Given the description of an element on the screen output the (x, y) to click on. 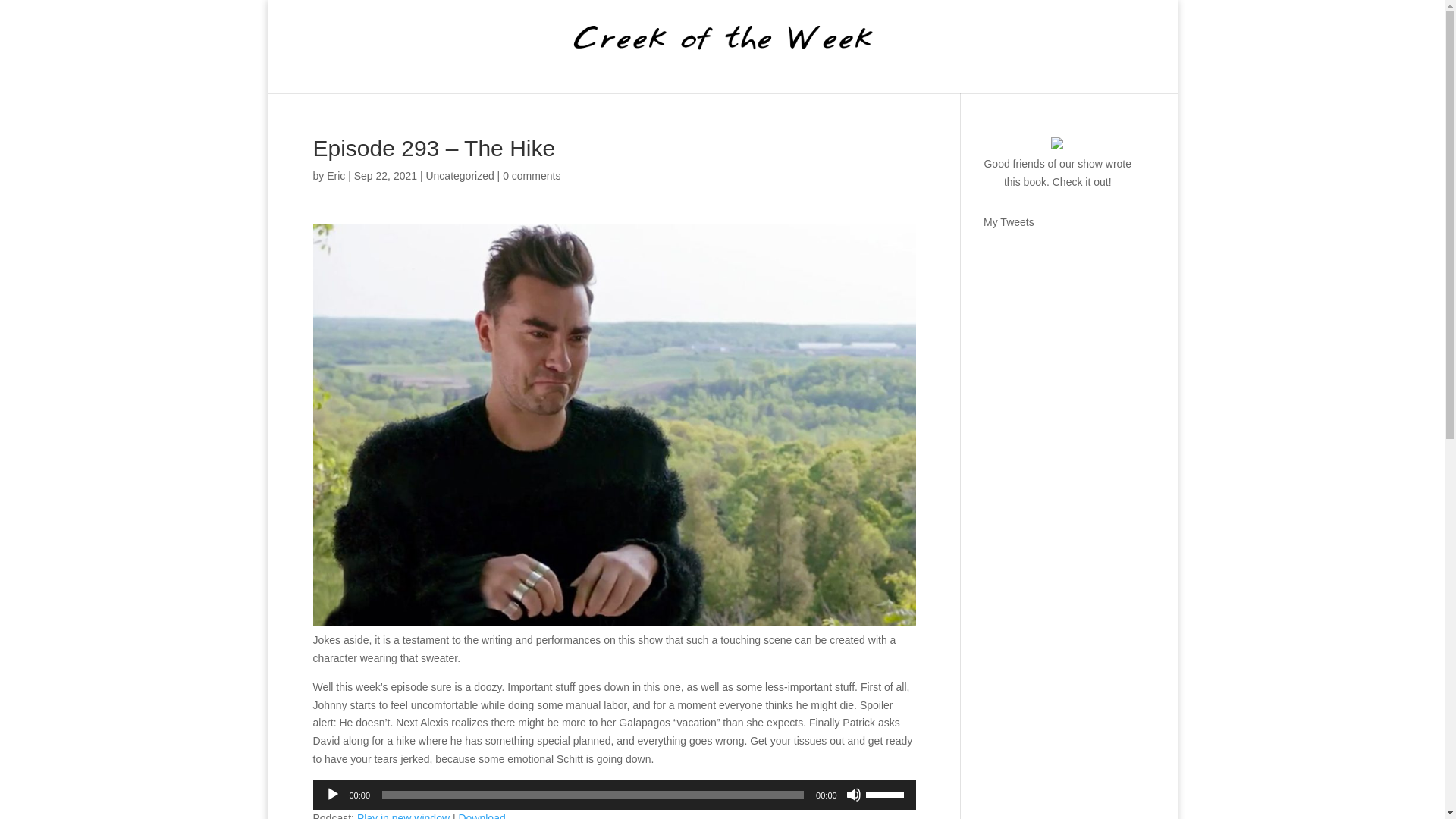
Posts by Eric (335, 175)
Mute (853, 794)
Play in new window (402, 815)
Download (481, 815)
0 comments (531, 175)
Play (331, 794)
Uncategorized (459, 175)
Download (481, 815)
My Tweets (1008, 222)
Play in new window (402, 815)
